Given the description of an element on the screen output the (x, y) to click on. 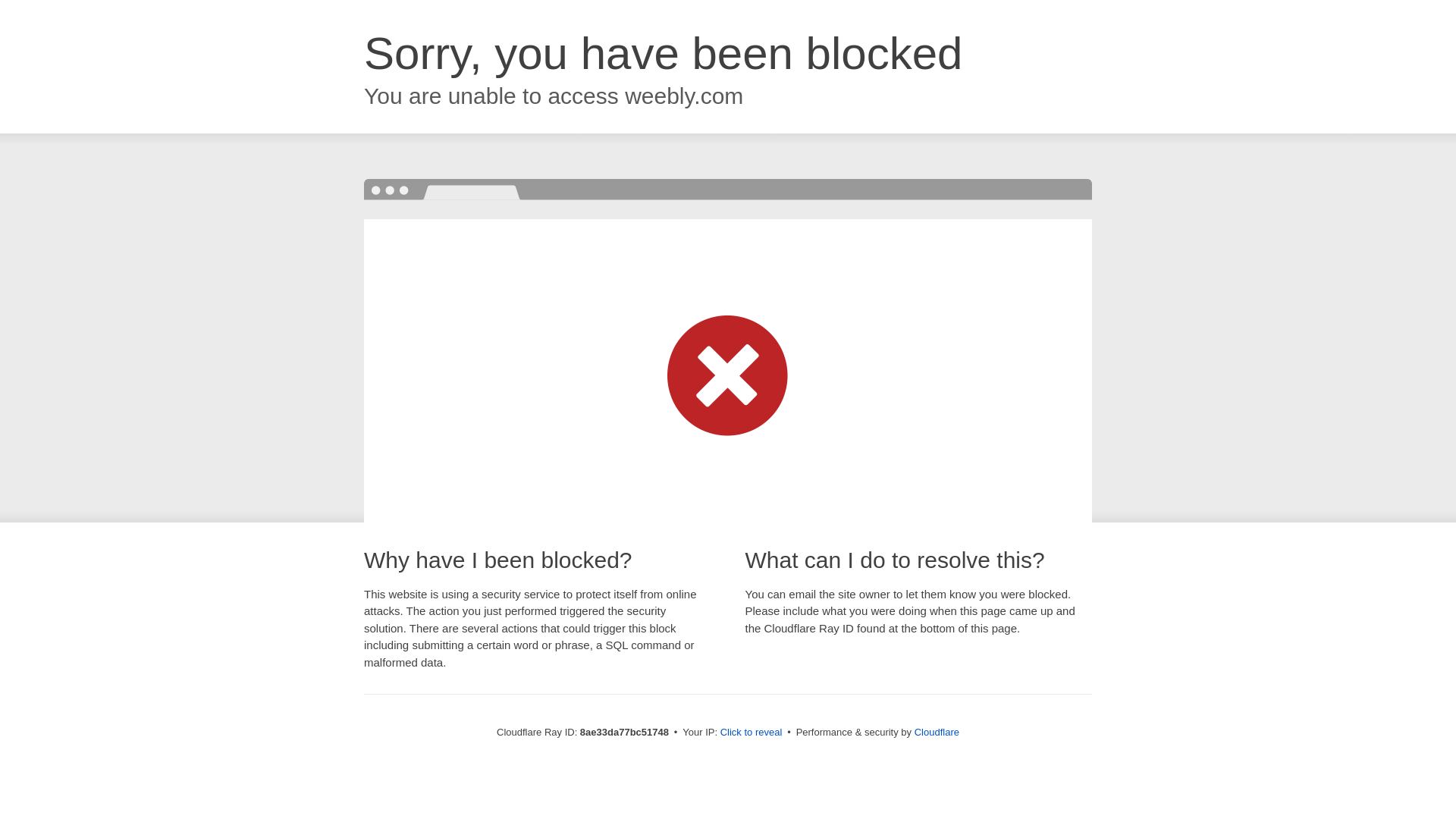
Cloudflare (936, 731)
Click to reveal (751, 732)
